Given the description of an element on the screen output the (x, y) to click on. 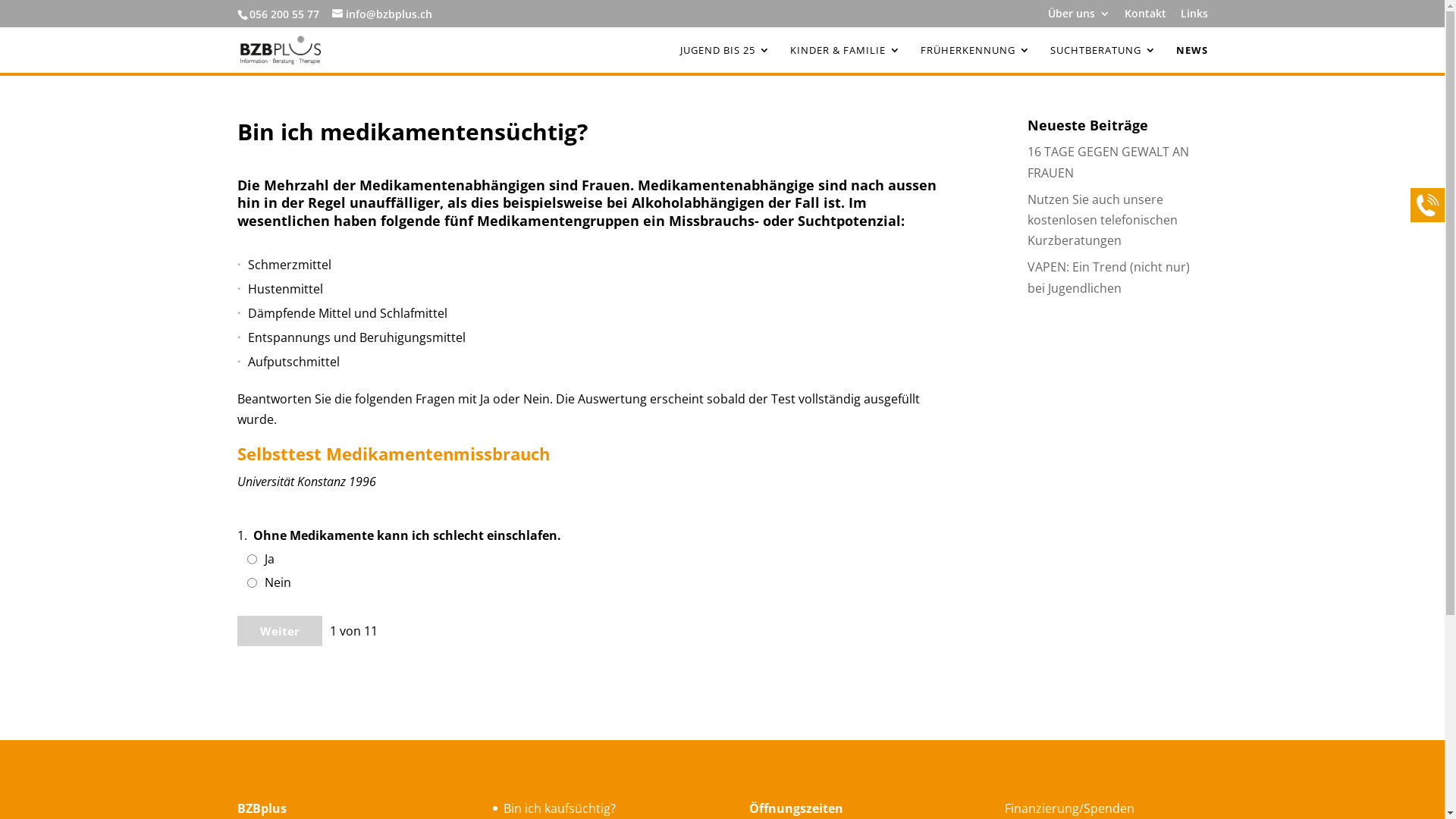
Finanzierung/Spenden Element type: text (1069, 808)
SUCHTBERATUNG Element type: text (1102, 58)
Kontakt Element type: text (1144, 16)
Weiter Element type: text (278, 630)
JUGEND BIS 25 Element type: text (724, 58)
VAPEN: Ein Trend (nicht nur) bei Jugendlichen Element type: text (1108, 276)
Links Element type: text (1193, 16)
16 TAGE GEGEN GEWALT AN FRAUEN Element type: text (1108, 161)
NEWS Element type: text (1191, 58)
info@bzbplus.ch Element type: text (382, 13)
KINDER & FAMILIE Element type: text (845, 58)
